Given the description of an element on the screen output the (x, y) to click on. 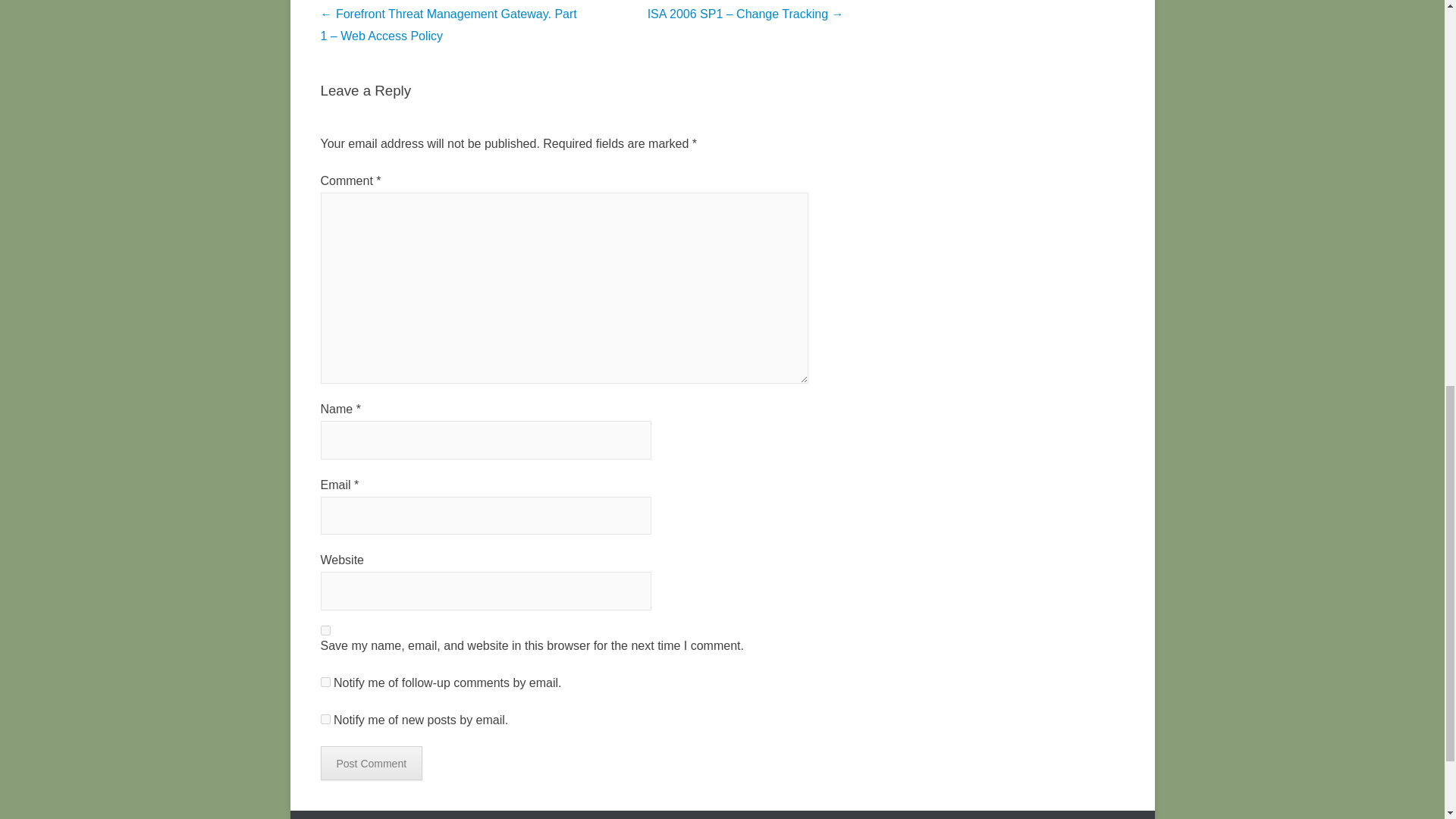
Post Comment (371, 763)
Post Comment (371, 763)
yes (325, 630)
subscribe (325, 718)
subscribe (325, 682)
